Given the description of an element on the screen output the (x, y) to click on. 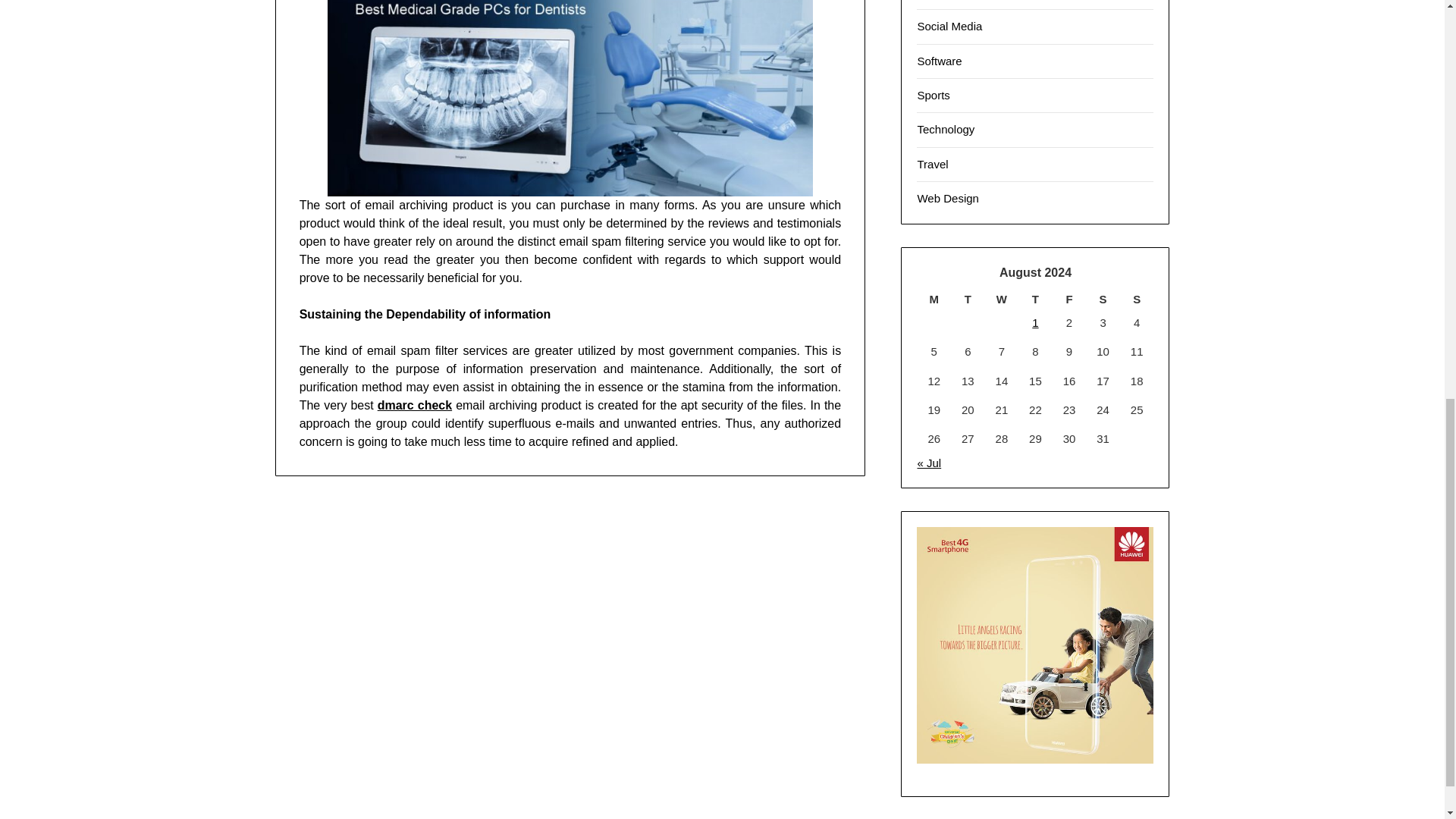
Travel (932, 164)
Sunday (1136, 298)
Tuesday (967, 298)
Web Design (947, 197)
Friday (1069, 298)
dmarc check (414, 404)
Saturday (1102, 298)
Software (938, 60)
Sports (933, 94)
Monday (933, 298)
